Given the description of an element on the screen output the (x, y) to click on. 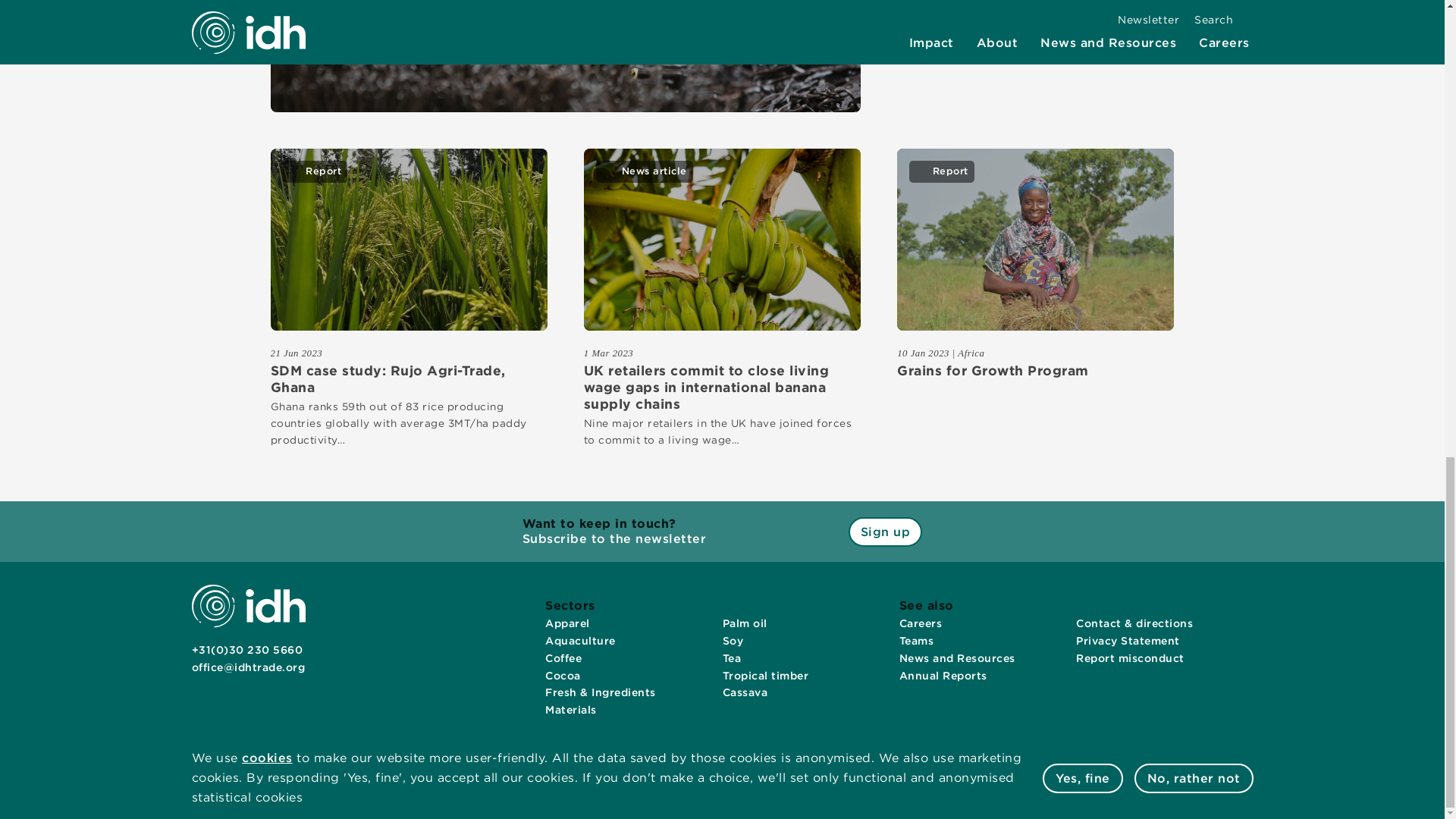
Teaser link (1034, 239)
Sign up (885, 531)
ahnaf-piash-liUvurgYGyw-unsplash (721, 239)
Read more (566, 38)
photo-of-a-rice-field (408, 239)
Teaser link (564, 56)
Sustainable Juice Covenant Activity Report 2022-2023 (1034, 12)
Twitter (227, 698)
SDM case study: Rujo Agri-Trade, Ghana (408, 378)
Youtube (254, 698)
Teaser link (408, 239)
Teaser link (721, 239)
LinkedIn (200, 698)
